Given the description of an element on the screen output the (x, y) to click on. 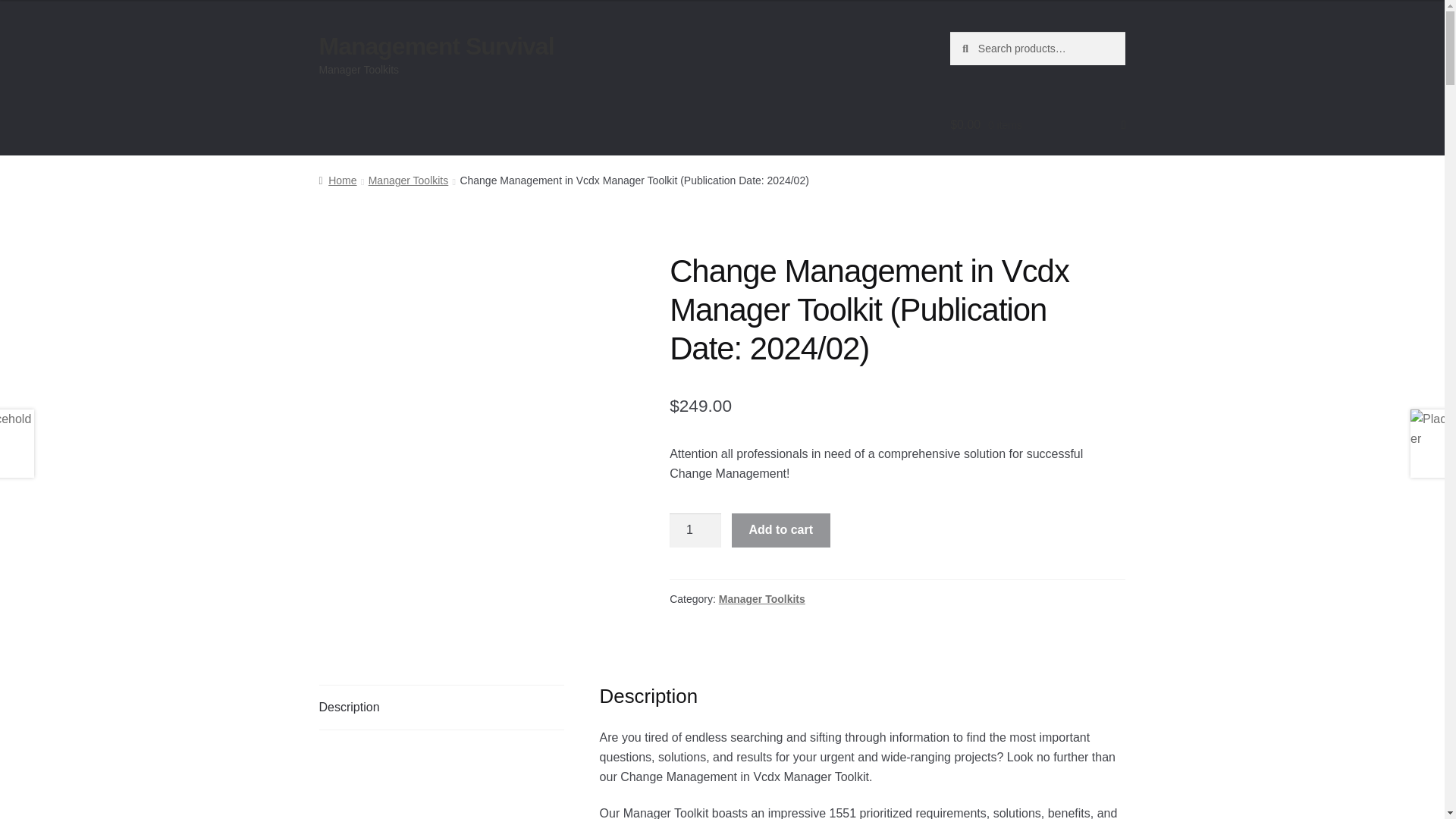
Management Survival (436, 45)
Description (441, 707)
1 (694, 530)
View your shopping cart (1037, 124)
Add to cart (780, 530)
Manager Toolkits (762, 598)
Home (337, 180)
Manager Toolkits (408, 180)
